Given the description of an element on the screen output the (x, y) to click on. 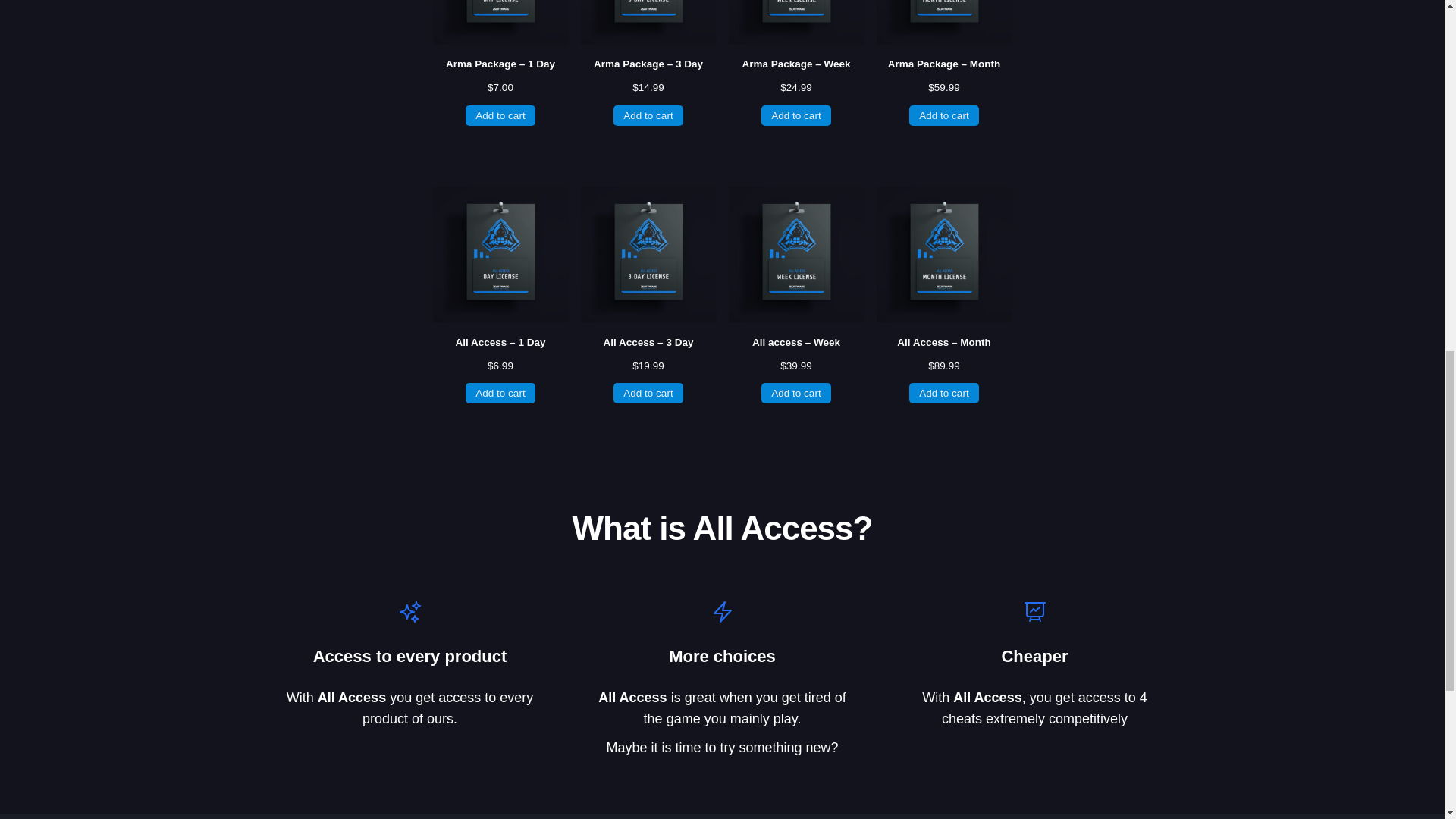
Add to cart (500, 115)
Add to cart (796, 115)
Add to cart (647, 115)
